Given the description of an element on the screen output the (x, y) to click on. 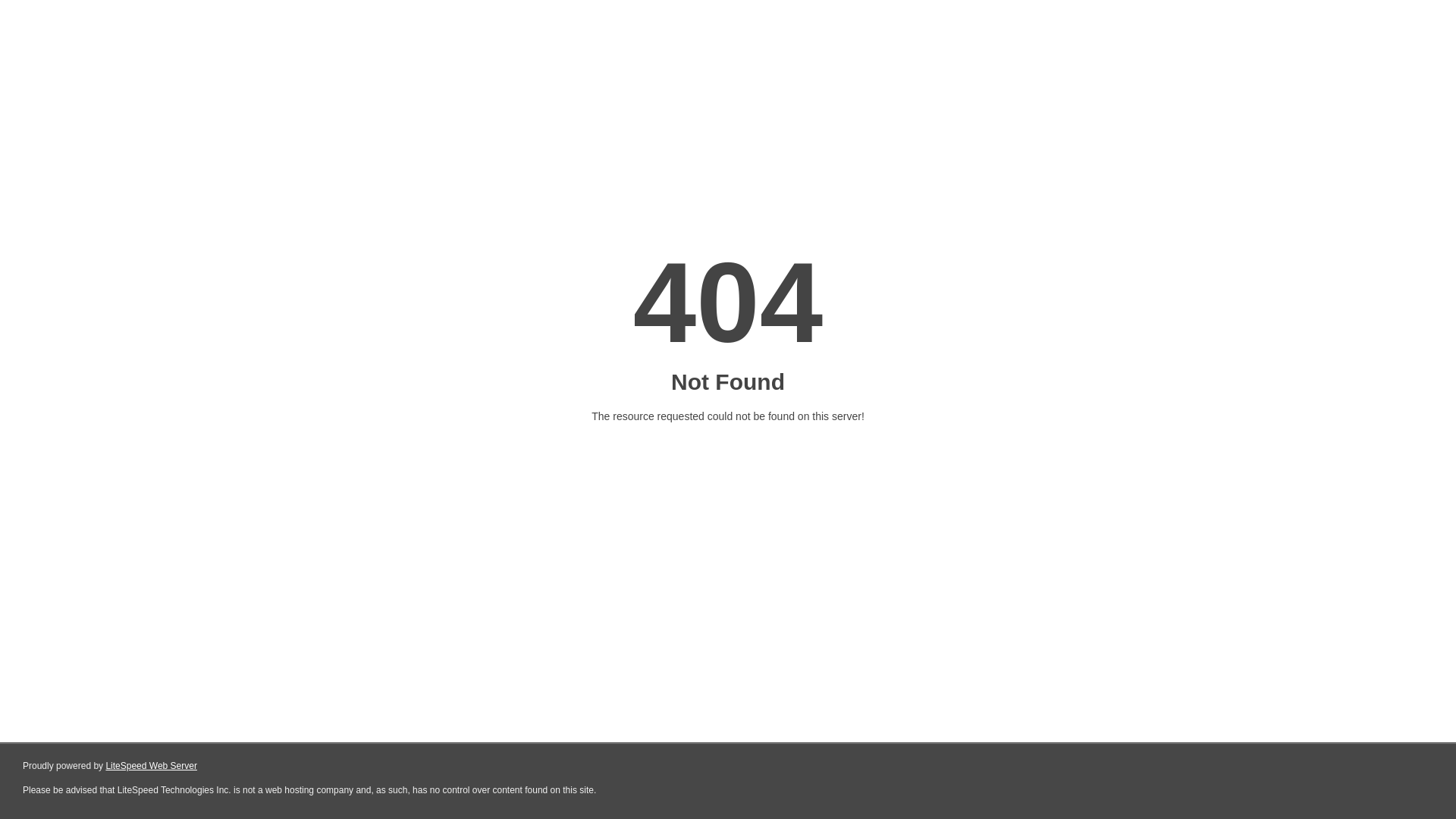
LiteSpeed Web Server Element type: text (151, 765)
